Given the description of an element on the screen output the (x, y) to click on. 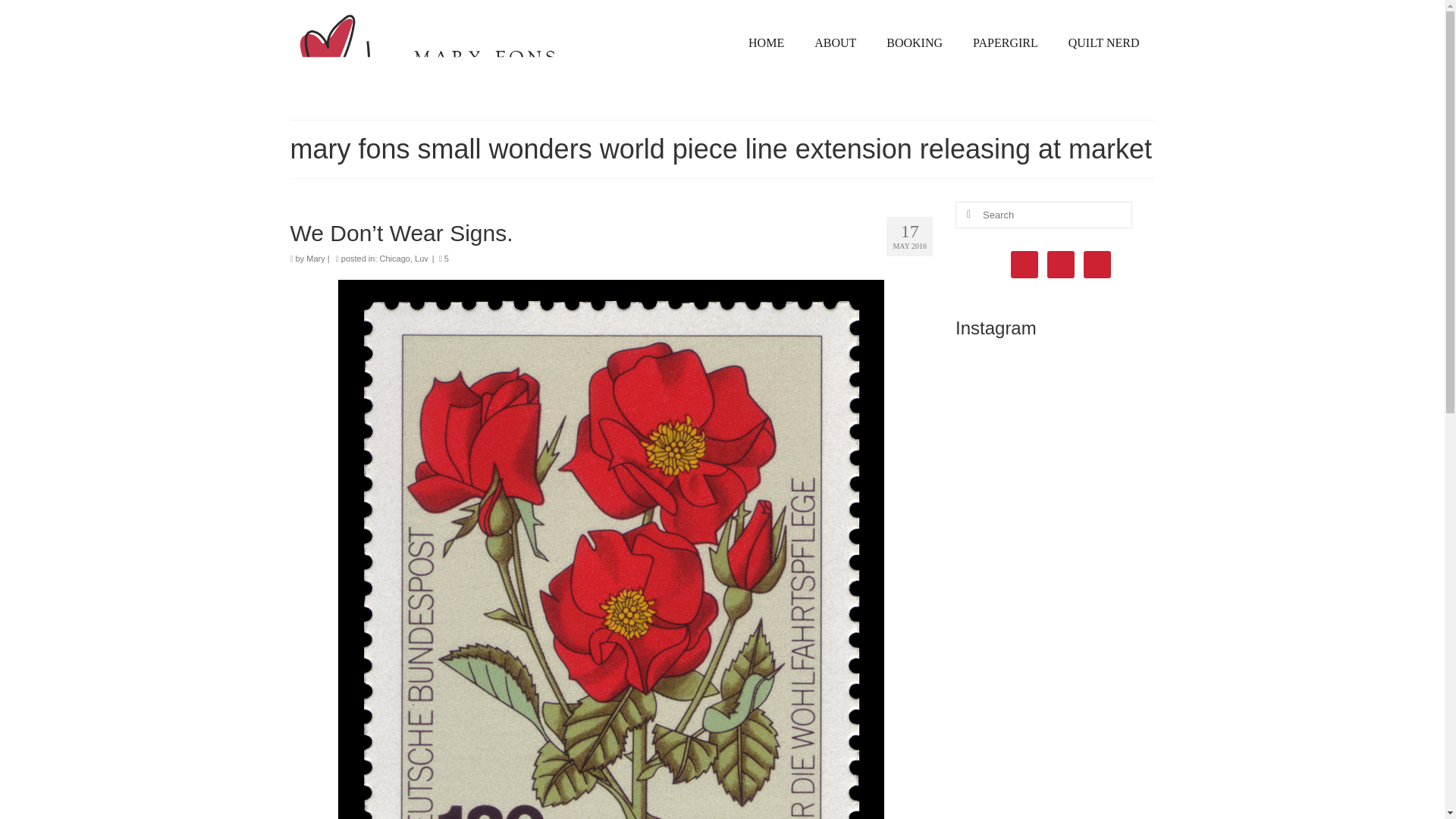
Mary (314, 257)
PAPERGIRL (1005, 42)
ABOUT (834, 42)
Mary Fons (428, 53)
Chicago (395, 257)
5 (443, 257)
QUILT NERD (1103, 42)
BOOKING (914, 42)
Luv (421, 257)
HOME (766, 42)
